Given the description of an element on the screen output the (x, y) to click on. 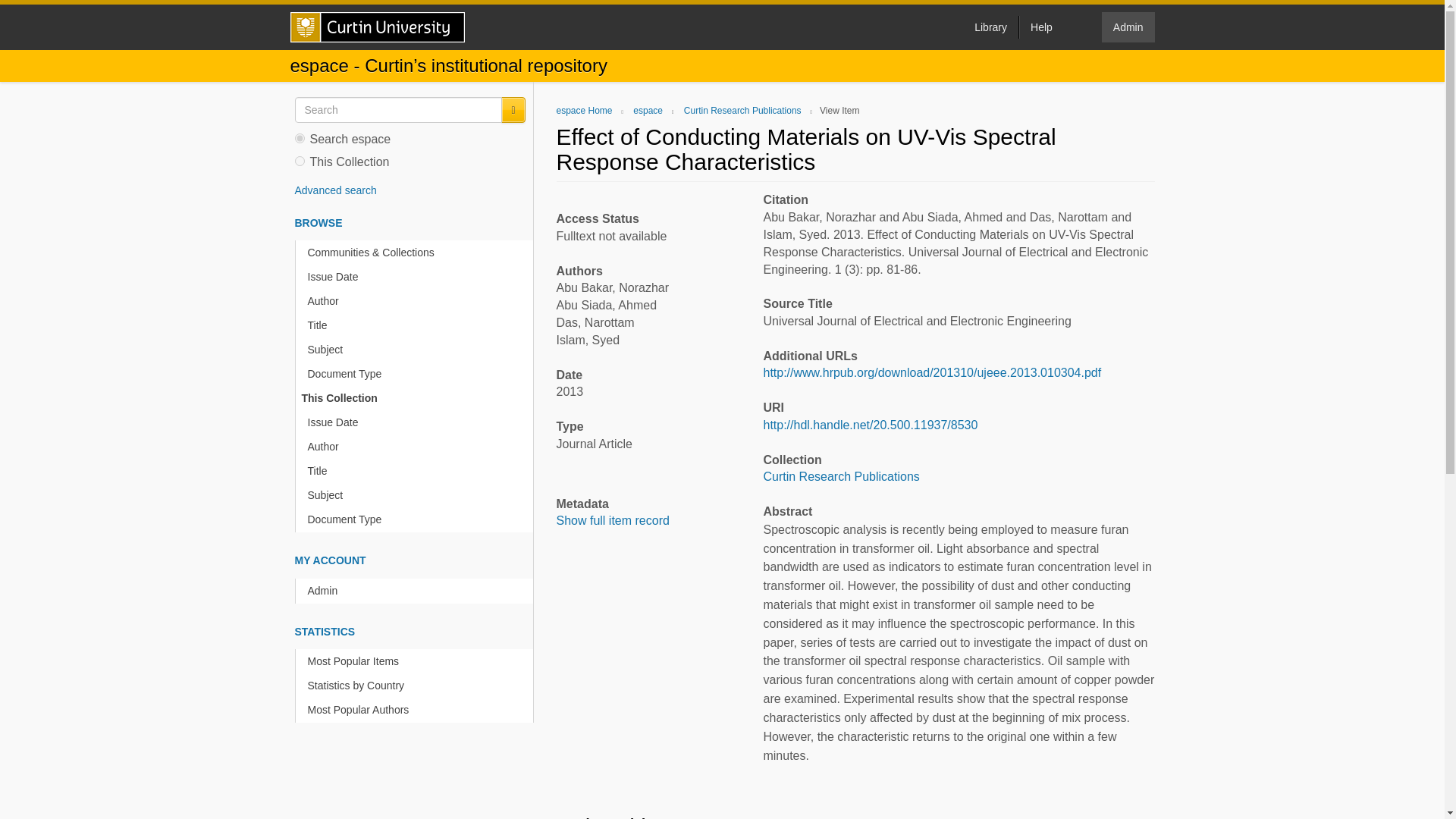
Author (416, 301)
Curtin Research Publications (840, 476)
Curtin Research Publications (743, 110)
Title (416, 325)
Subject (416, 349)
Show full item record (612, 520)
Subject (416, 495)
Admin (416, 590)
Advanced search (334, 190)
espace Home (584, 110)
